Given the description of an element on the screen output the (x, y) to click on. 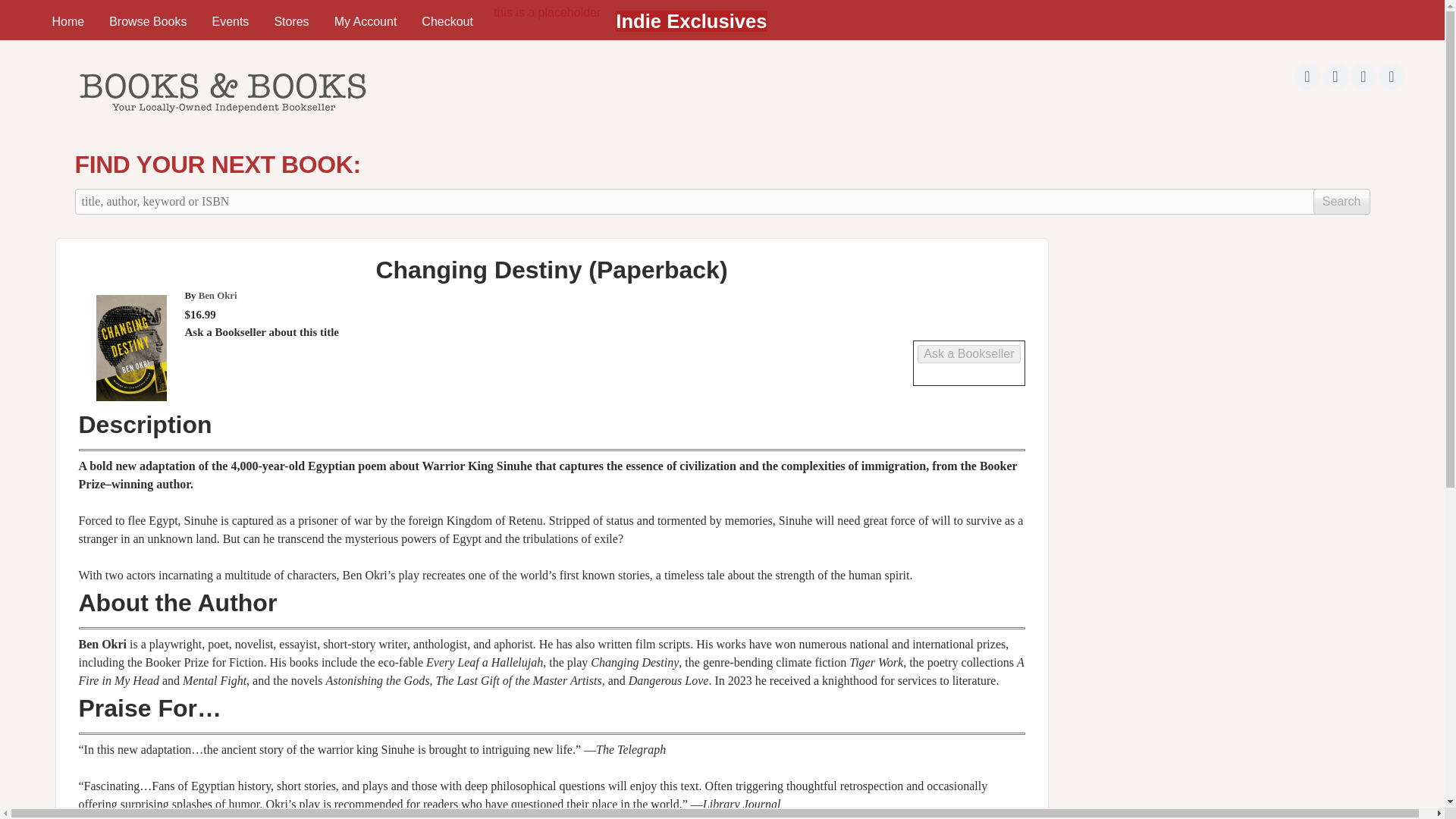
Home (67, 22)
Home page (220, 116)
Search (1341, 201)
Ask a Bookseller (968, 353)
Events (229, 22)
Checkout (446, 22)
Browse Books (147, 22)
Stores (291, 22)
Ask a Bookseller (968, 353)
Search (1341, 201)
